Given the description of an element on the screen output the (x, y) to click on. 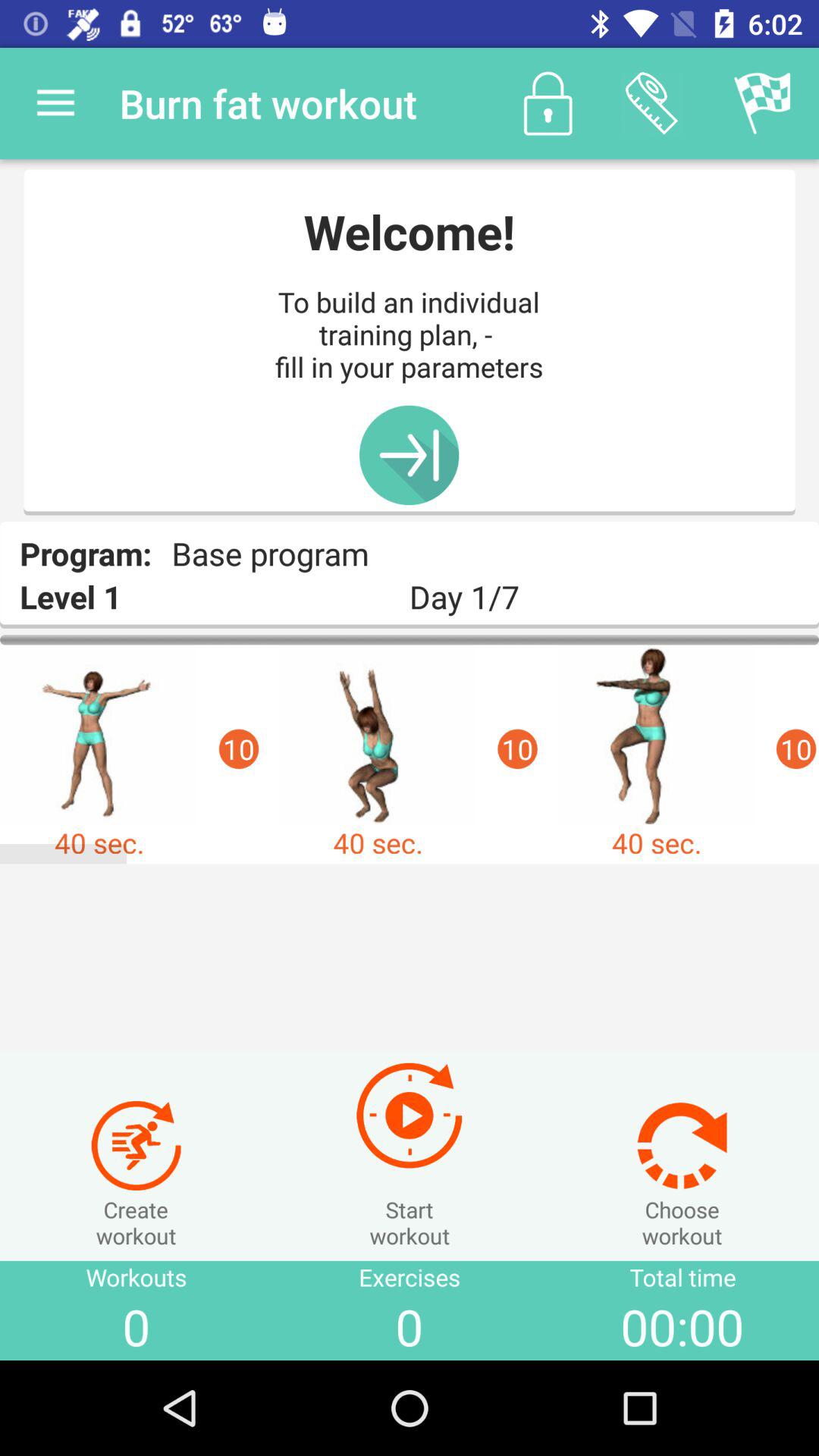
click the icon above base program icon (408, 455)
